Given the description of an element on the screen output the (x, y) to click on. 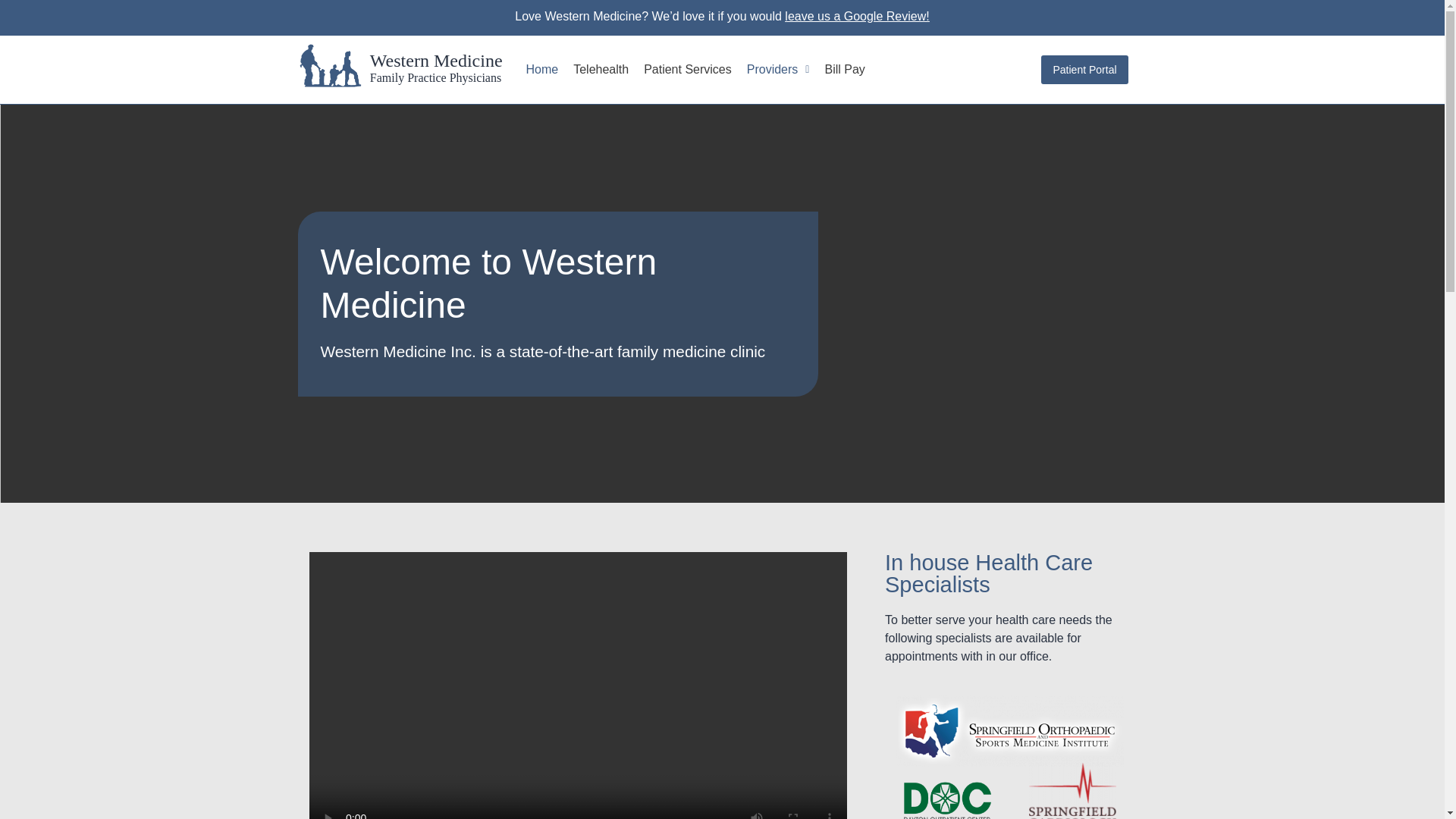
Patient Portal (1083, 69)
Home (542, 69)
Patient Services (687, 69)
Providers (777, 69)
logoSpfd (1072, 790)
leave us a Google Review! (856, 15)
Telehealth (601, 69)
Bill Pay (844, 69)
